Given the description of an element on the screen output the (x, y) to click on. 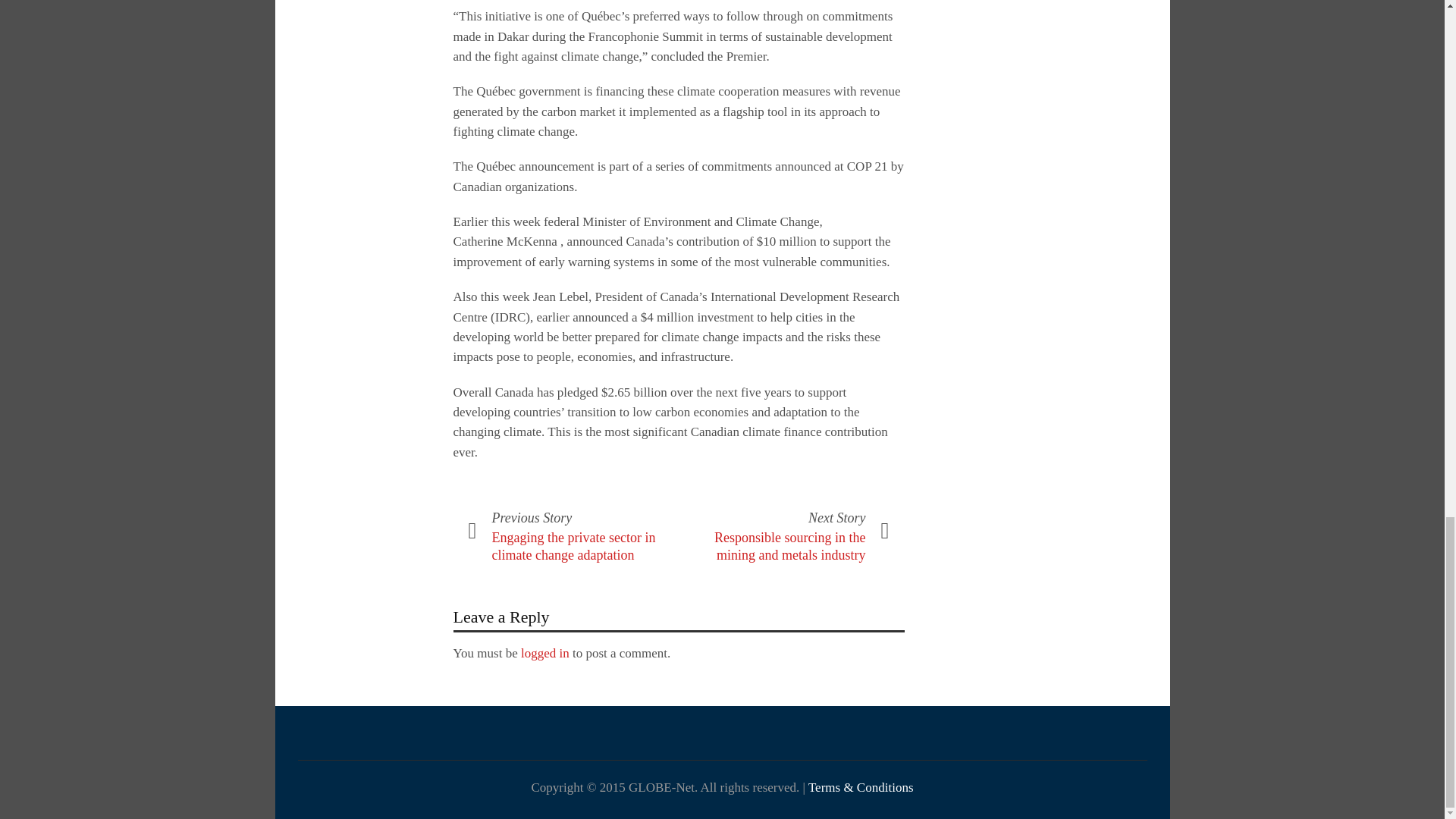
Responsible sourcing in the mining and metals industry (789, 545)
Engaging the private sector in climate change adaptation (573, 545)
logged in (545, 653)
